Given the description of an element on the screen output the (x, y) to click on. 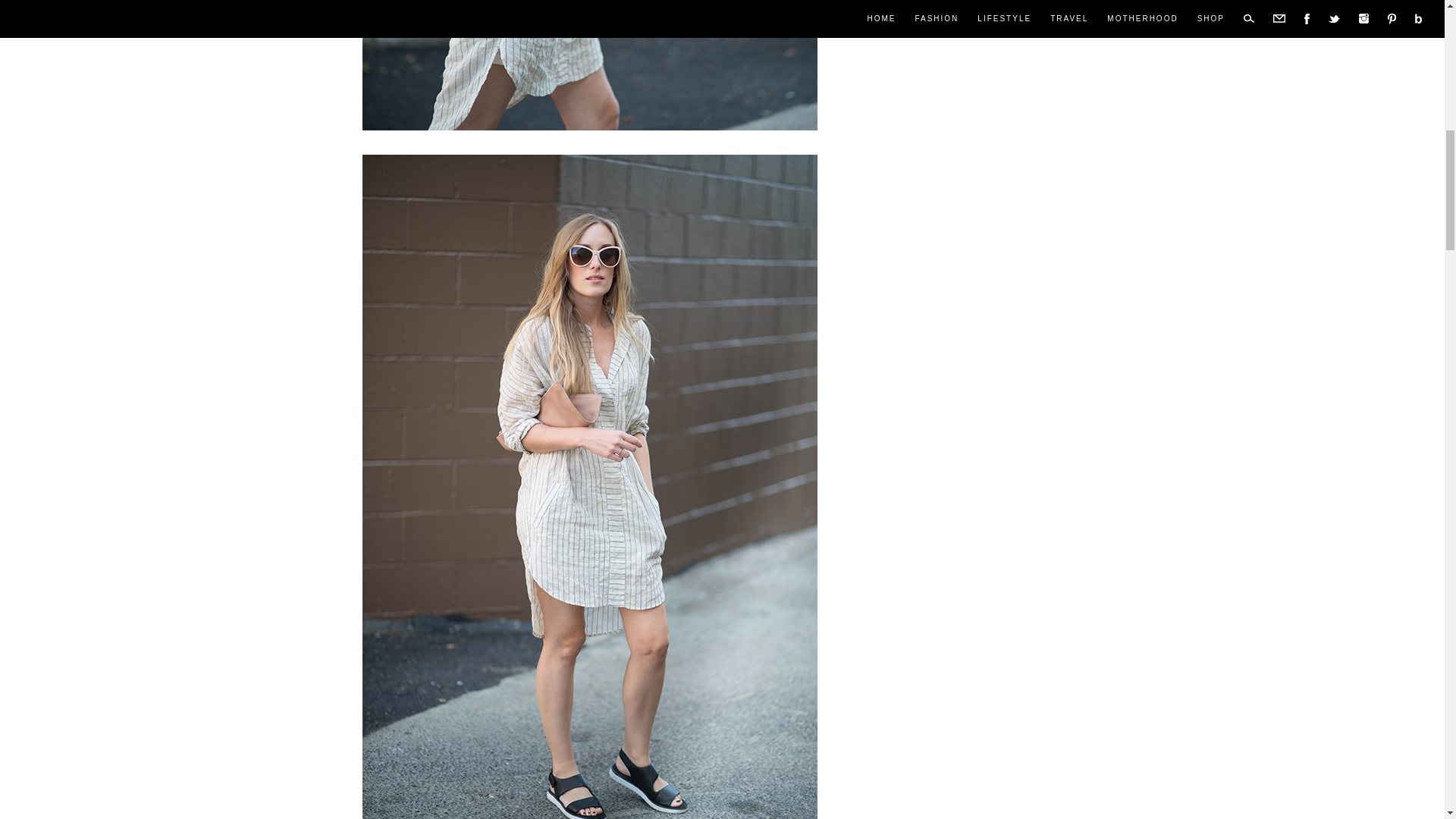
eatsleepwear, odells, givenchy, chanel, kenneth-cole, 1 (589, 65)
